Given the description of an element on the screen output the (x, y) to click on. 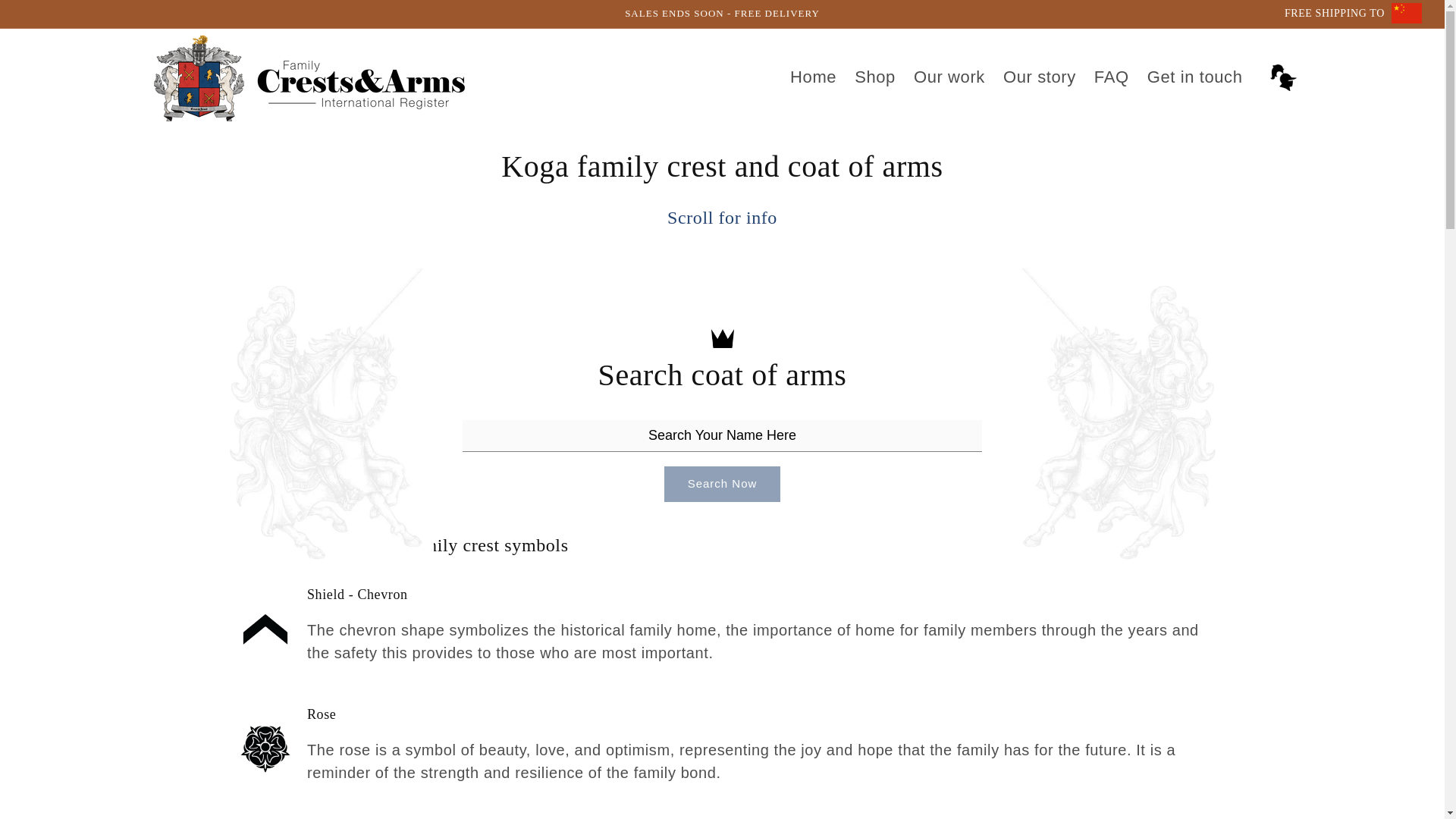
Skip to content (45, 16)
Shop (874, 77)
Cart (1283, 77)
Our story (1039, 77)
Our work (949, 77)
Get in touch (1195, 77)
FAQ (1111, 77)
Search Now (722, 483)
Home (812, 77)
